Given the description of an element on the screen output the (x, y) to click on. 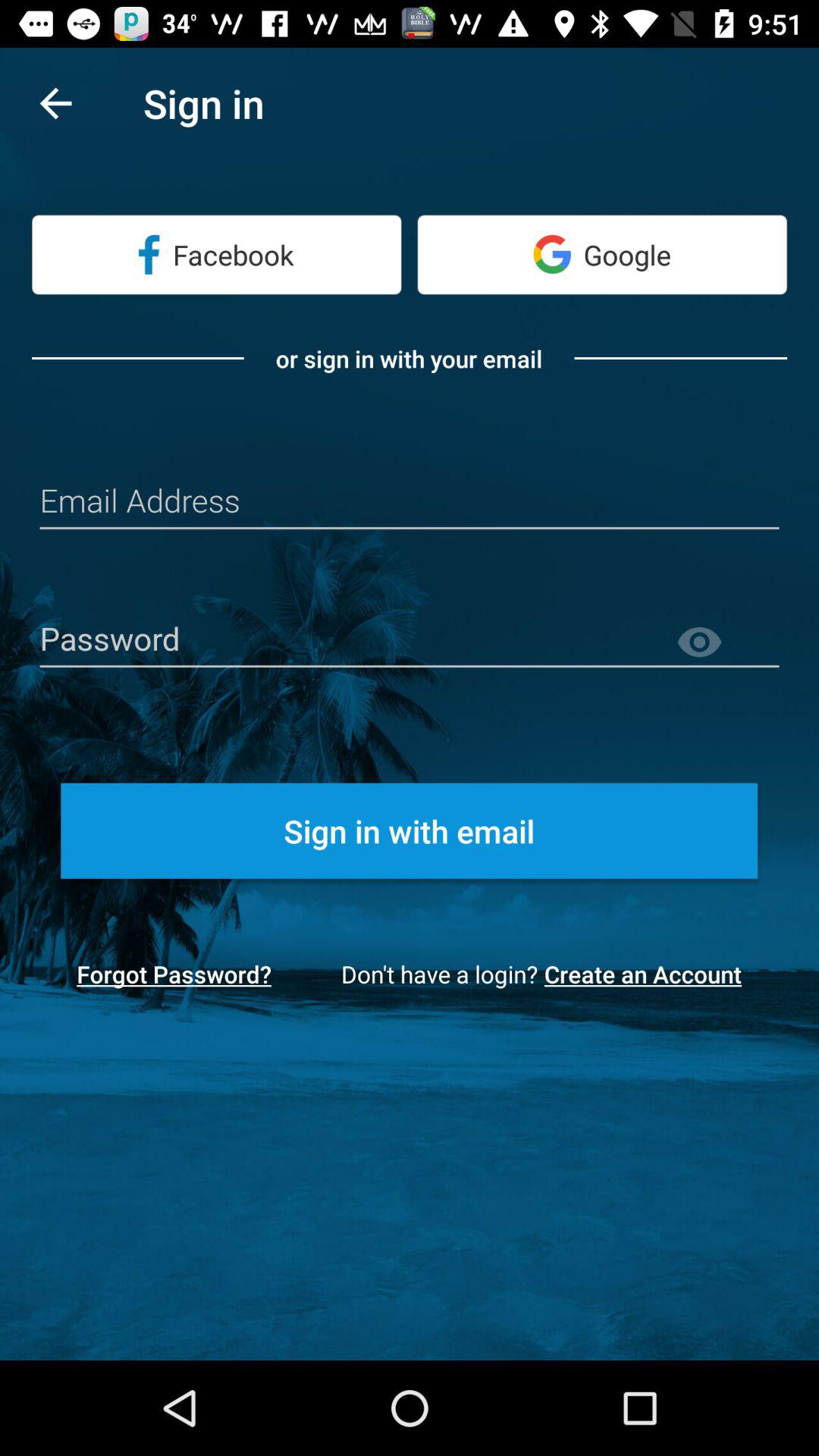
flip to the create an account icon (647, 974)
